Given the description of an element on the screen output the (x, y) to click on. 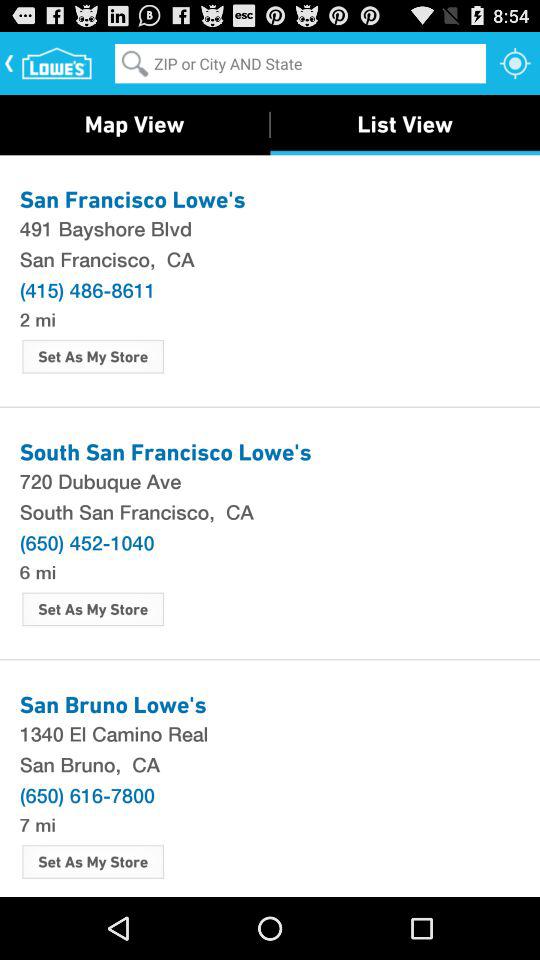
swipe to 720 dubuque ave (269, 480)
